Given the description of an element on the screen output the (x, y) to click on. 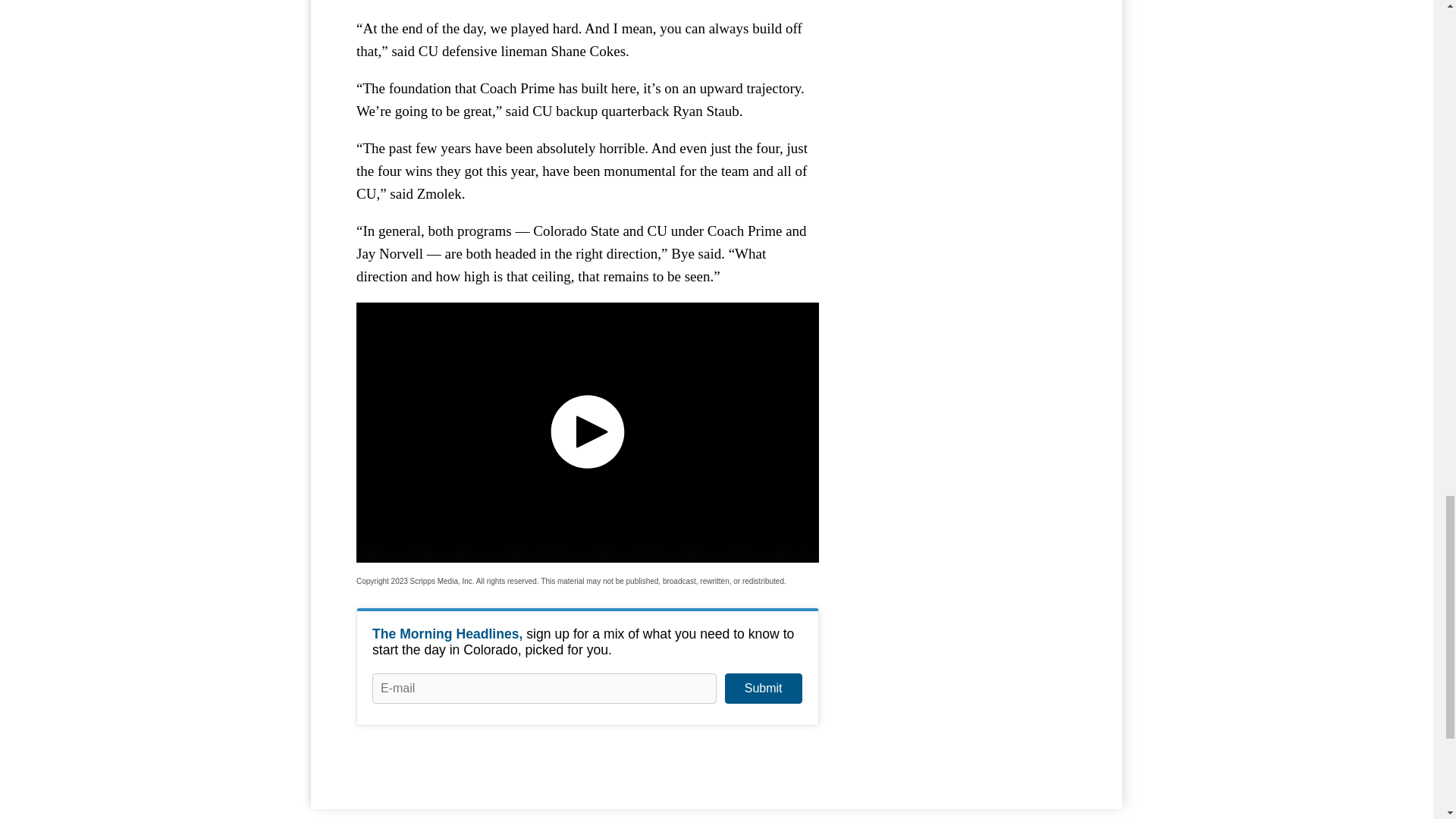
Submit (763, 688)
